Given the description of an element on the screen output the (x, y) to click on. 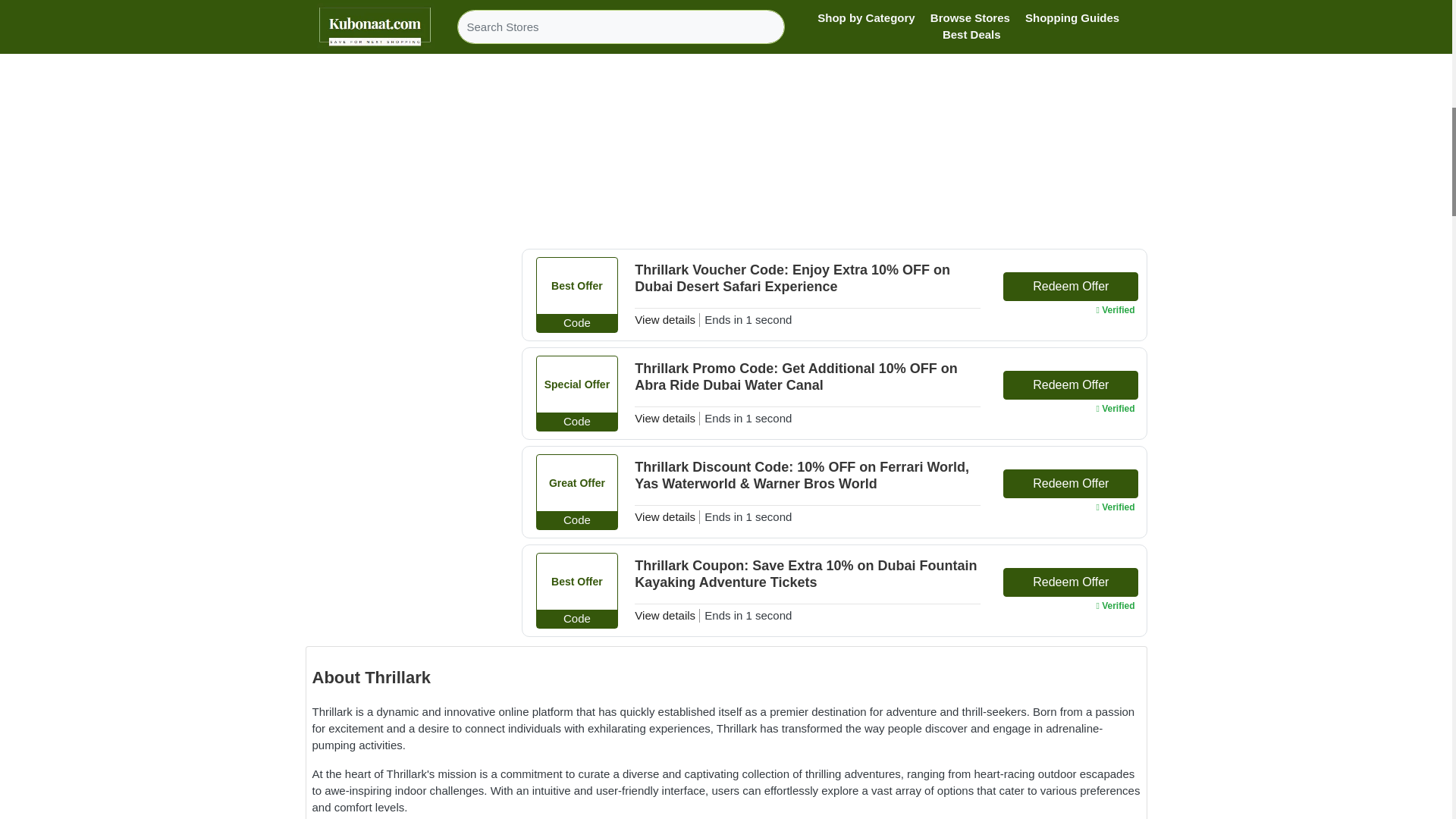
Advertisement (400, 22)
View details (664, 615)
View details (664, 318)
Advertisement (834, 136)
Redeem Offer (1070, 582)
View details (664, 4)
Redeem Offer (1070, 483)
Redeem Offer (1070, 286)
View details (664, 516)
Redeem Offer (1070, 385)
View details (664, 418)
